Given the description of an element on the screen output the (x, y) to click on. 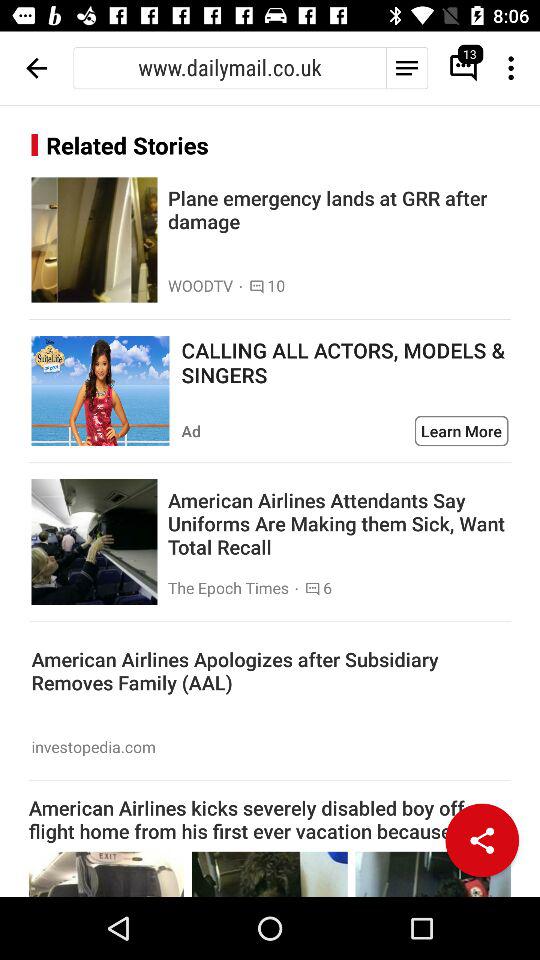
go to advertisement for actors models and singers (100, 391)
